Given the description of an element on the screen output the (x, y) to click on. 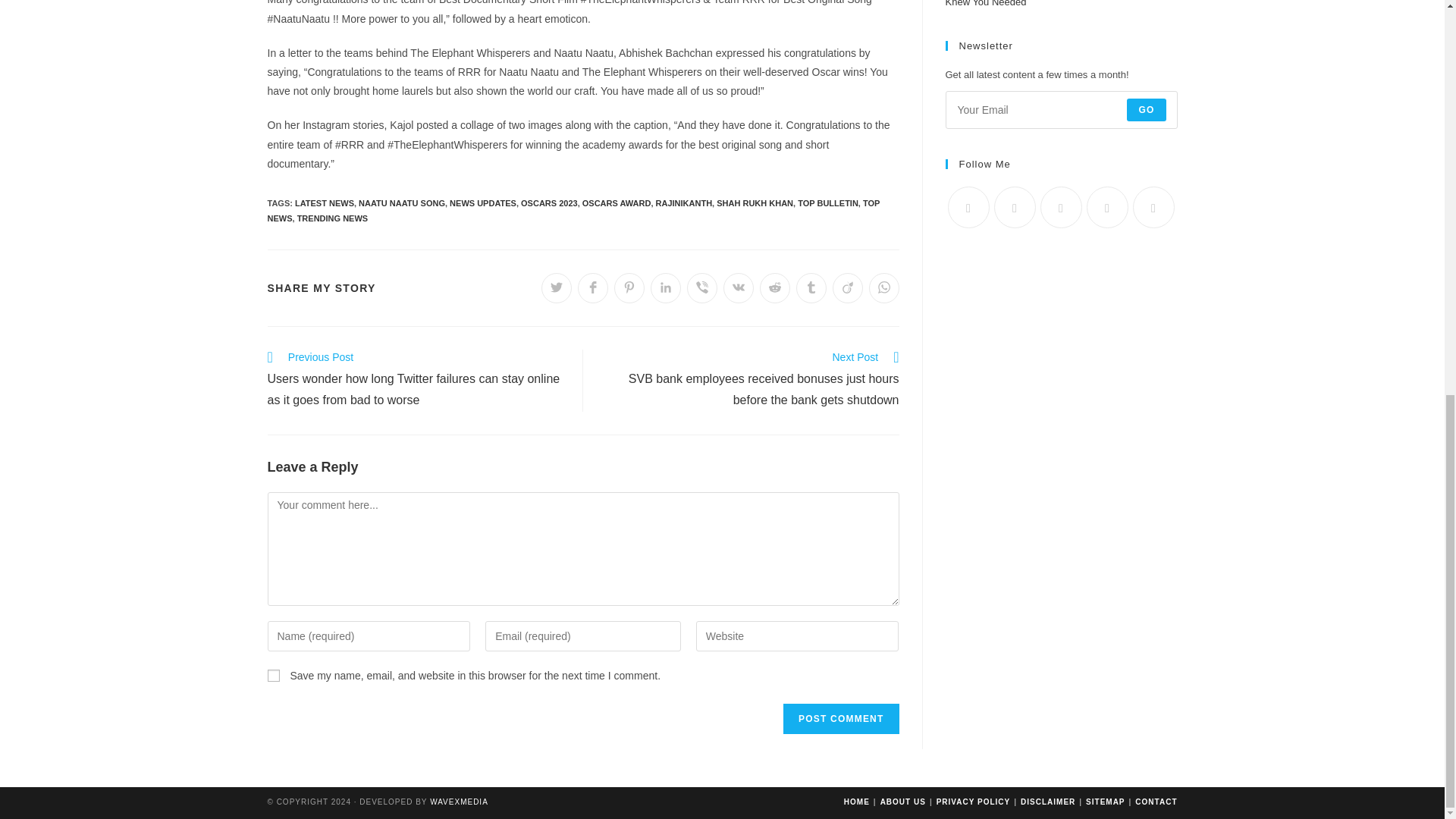
Post Comment (840, 718)
yes (272, 675)
